Given the description of an element on the screen output the (x, y) to click on. 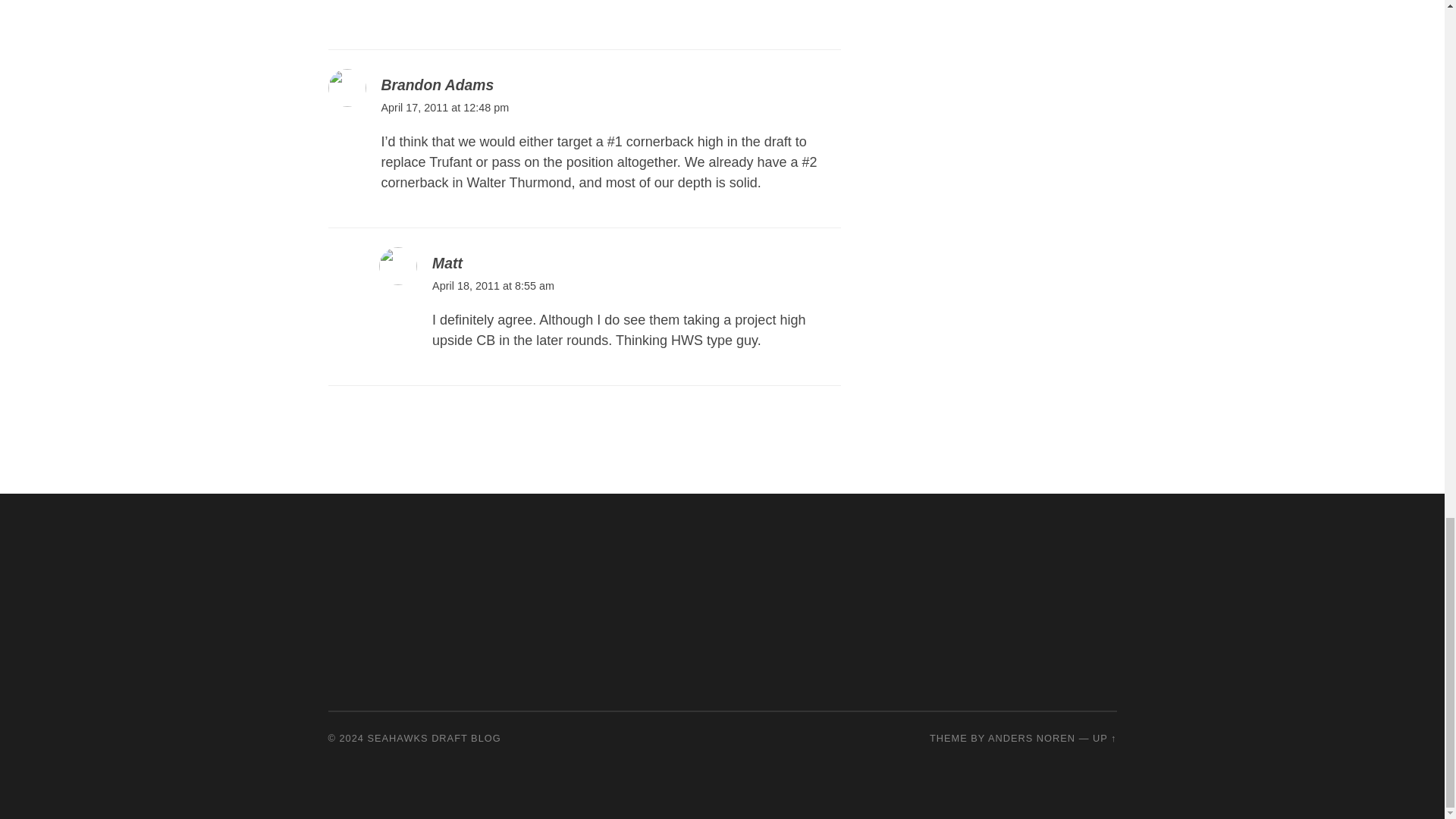
Brandon Adams (436, 84)
To the top (1104, 737)
April 18, 2011 at 8:55 am (493, 285)
ANDERS NOREN (1031, 737)
April 17, 2011 at 12:48 pm (444, 107)
SEAHAWKS DRAFT BLOG (434, 737)
